Given the description of an element on the screen output the (x, y) to click on. 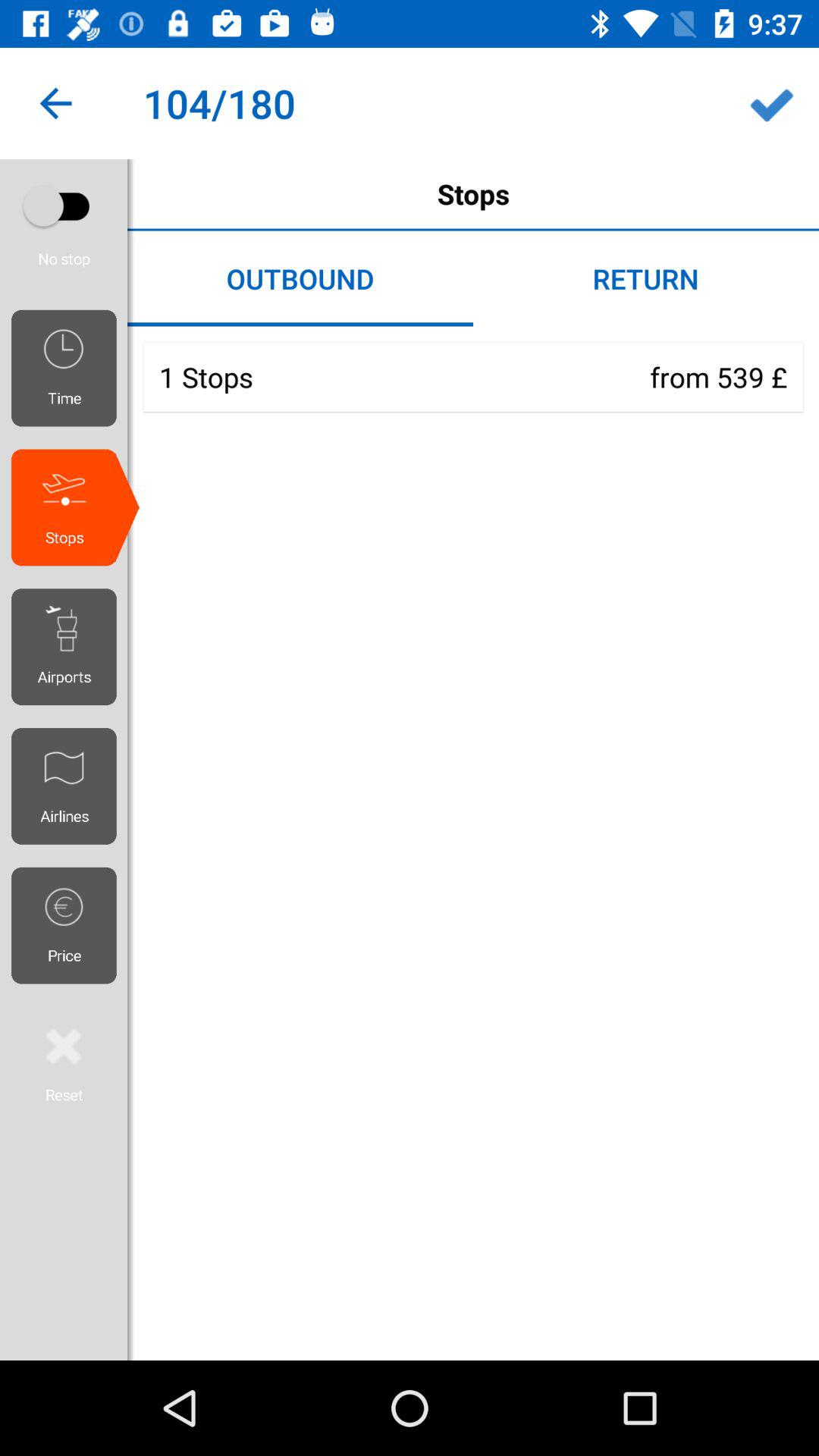
tap the icon to the left of the stops item (55, 103)
